Given the description of an element on the screen output the (x, y) to click on. 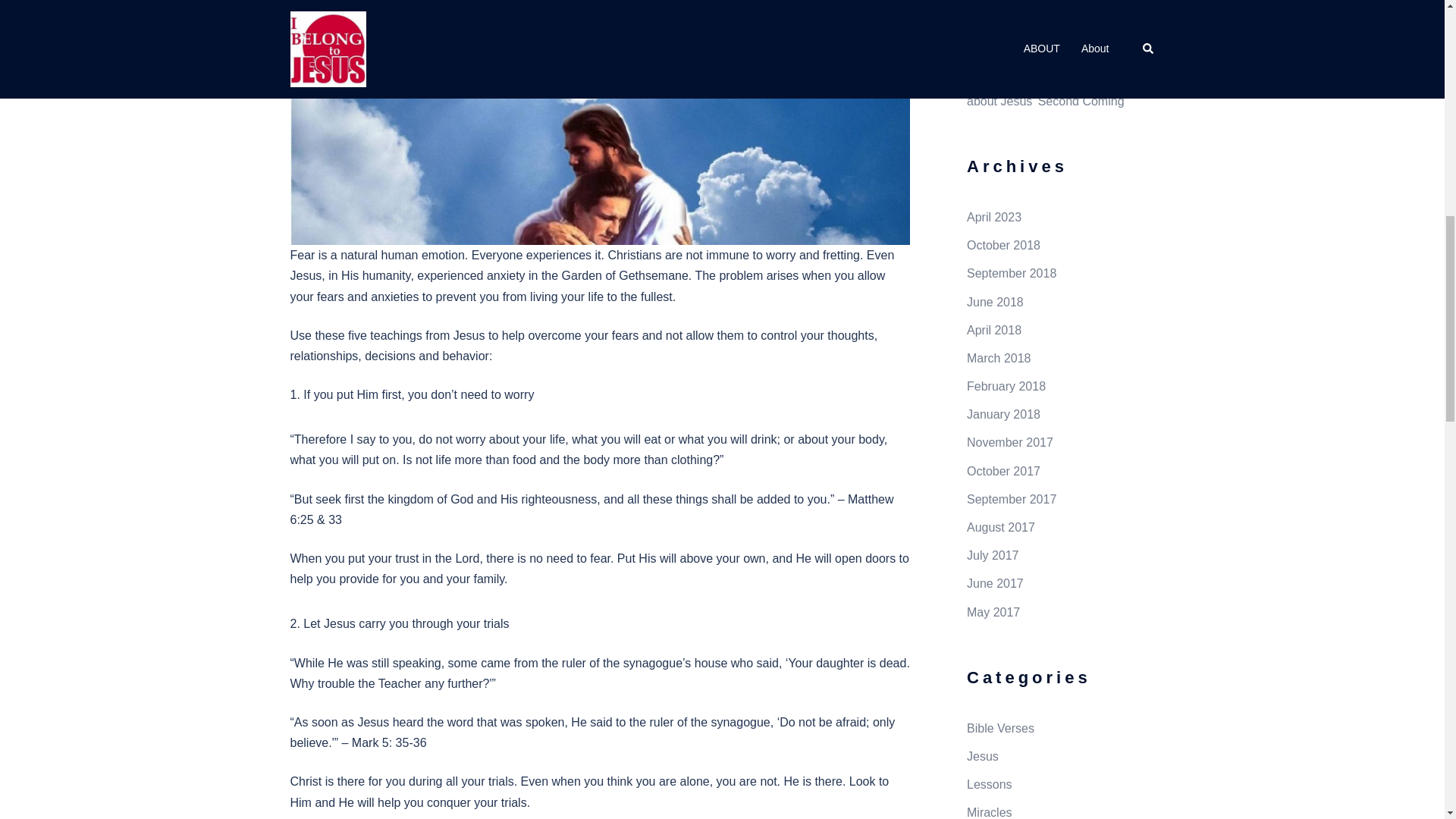
6 Ways the Miracles of Jesus can Change Your Life Today (1045, 31)
April 2023 (994, 216)
